Given the description of an element on the screen output the (x, y) to click on. 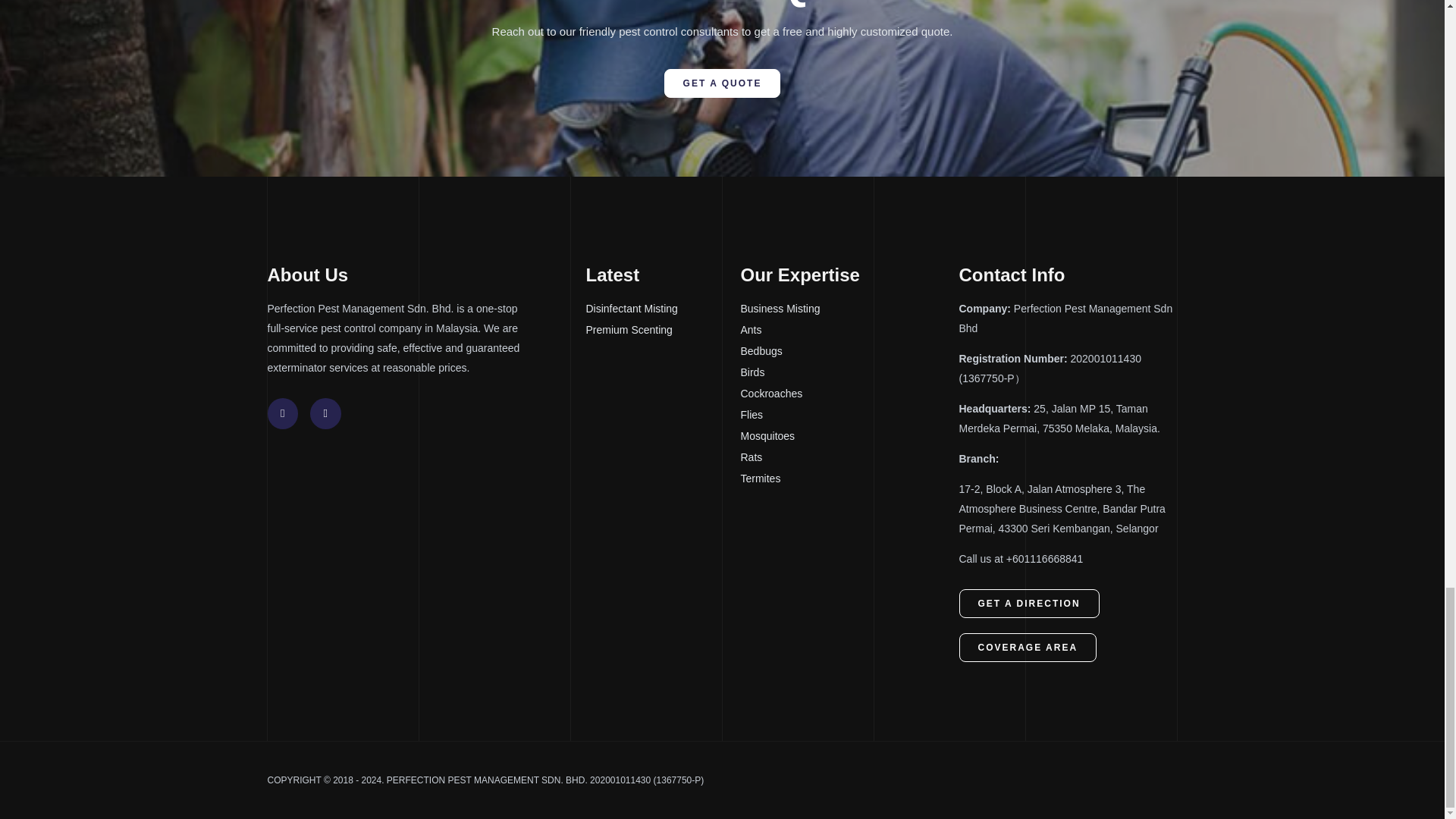
Rats (848, 457)
Facebook (282, 413)
GET A QUOTE (721, 82)
Ants (848, 330)
COVERAGE AREA (1027, 647)
Business Misting (848, 309)
Mosquitoes (848, 436)
Bedbugs (848, 351)
GET A DIRECTION (1028, 603)
Flies (848, 415)
